Given the description of an element on the screen output the (x, y) to click on. 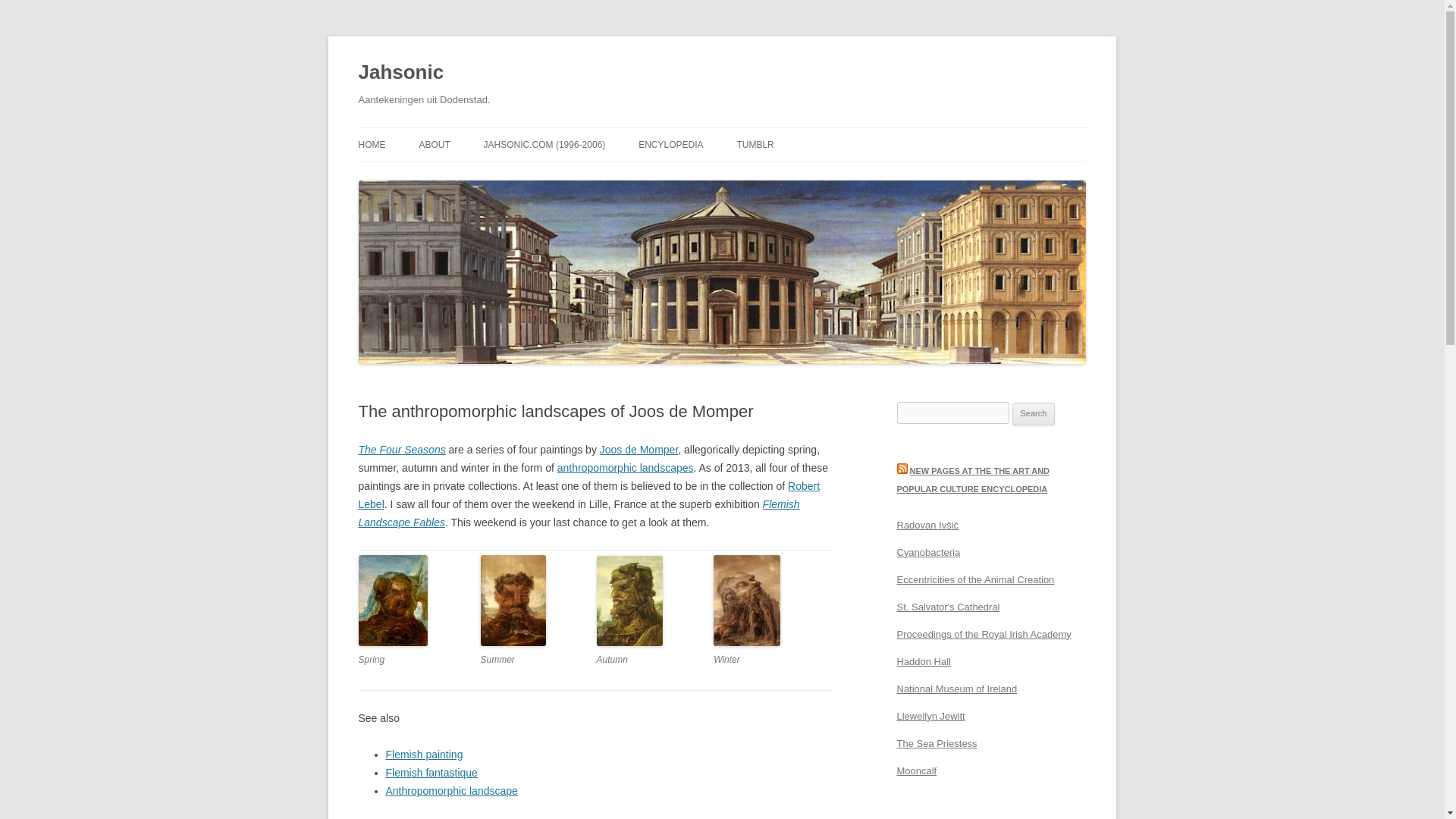
Image:Autumn.jpg (629, 643)
Flemish painting (424, 754)
Proceedings of the Royal Irish Academy (983, 633)
Anthropomorphic landscape (450, 790)
Flemish Landscape Fables (578, 512)
anthropomorphic landscapes (625, 467)
Search (1033, 413)
Eccentricities of the Animal Creation (975, 579)
Joos de Momper (638, 449)
Flemish fantastique (431, 772)
